Given the description of an element on the screen output the (x, y) to click on. 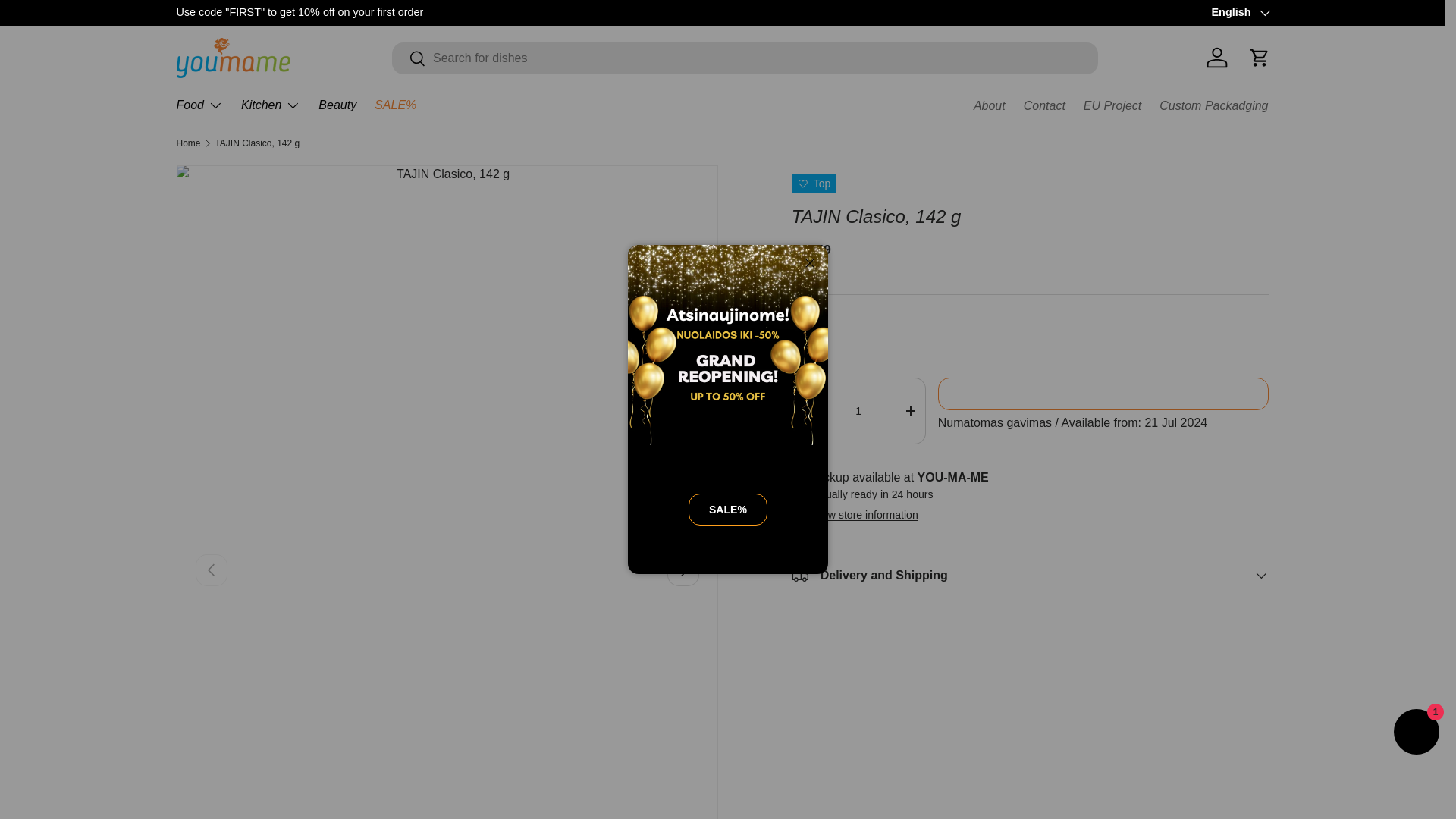
1 (858, 410)
Skip to content (68, 21)
Log in (1216, 57)
Food (199, 105)
Search (408, 58)
Cart (1258, 57)
Shopify online store chat (1416, 733)
English (1239, 12)
